Given the description of an element on the screen output the (x, y) to click on. 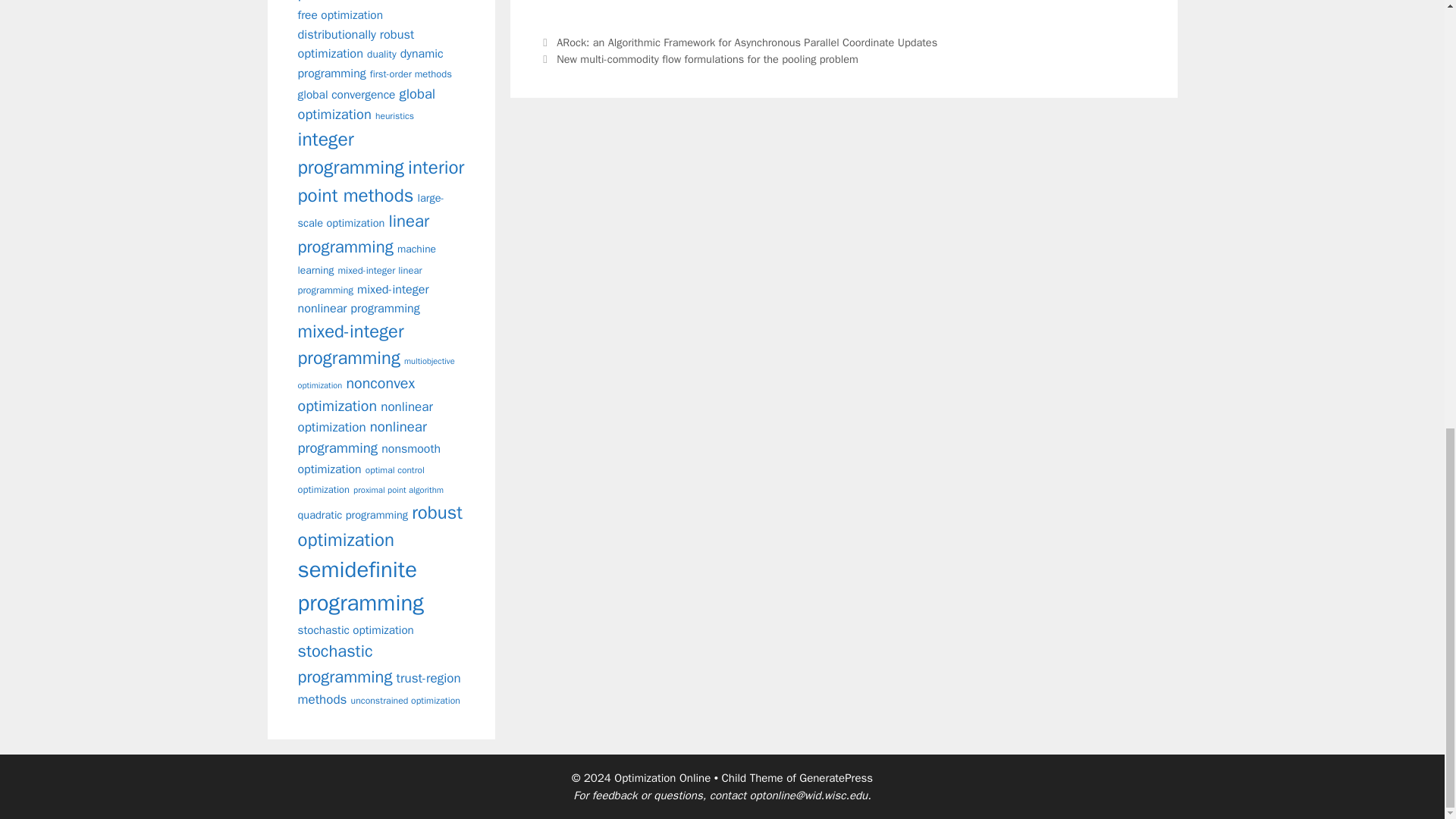
Next (698, 59)
cutting planes (372, 1)
Previous (738, 42)
